Given the description of an element on the screen output the (x, y) to click on. 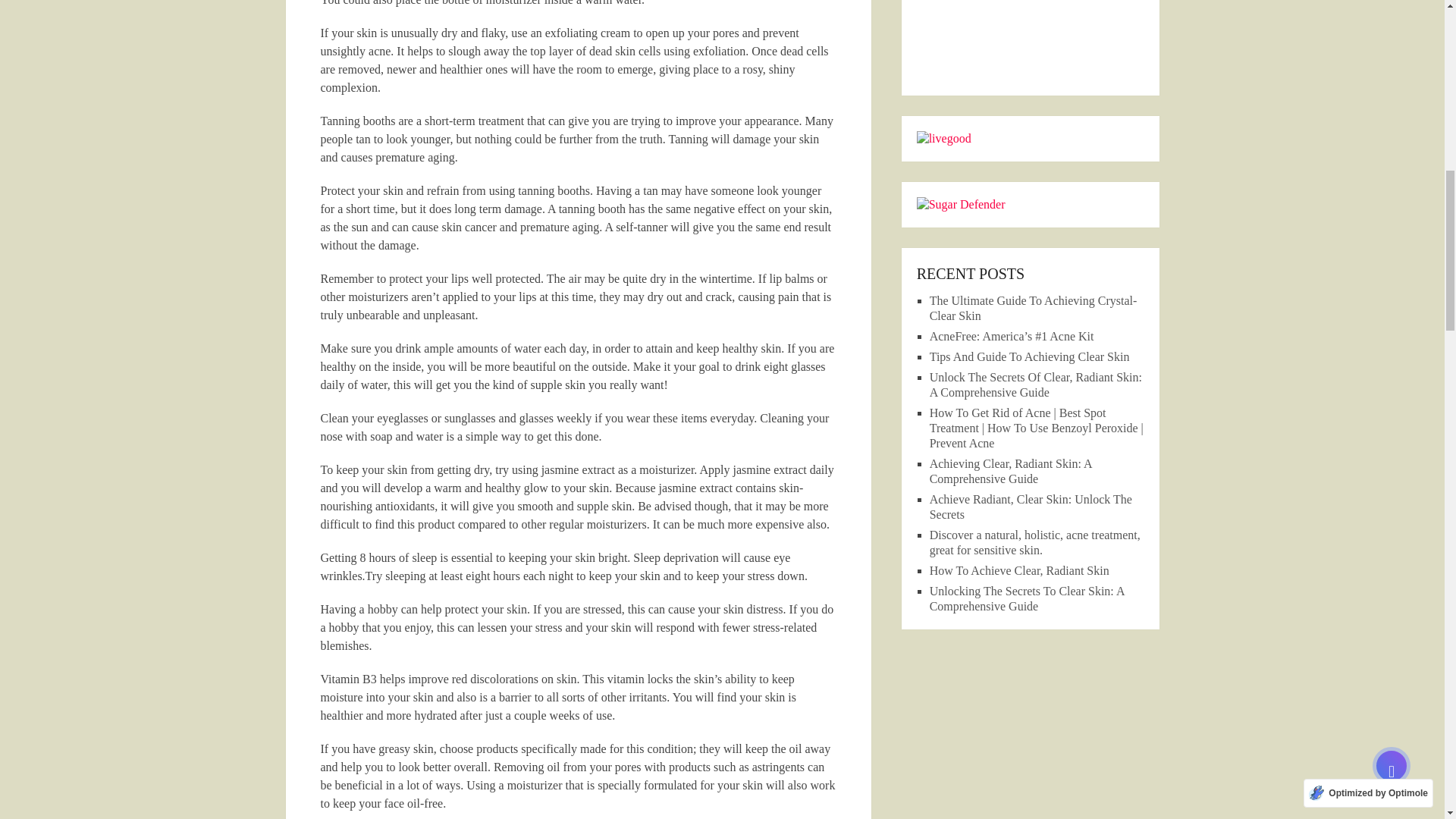
How To Achieve Clear, Radiant Skin (1019, 570)
The Ultimate Guide To Achieving Crystal-Clear Skin (1033, 308)
Achieving Clear, Radiant Skin: A Comprehensive Guide (1011, 471)
Tips And Guide To Achieving Clear Skin (1029, 356)
Achieve Radiant, Clear Skin: Unlock The Secrets (1031, 506)
Unlocking The Secrets To Clear Skin: A Comprehensive Guide (1027, 598)
